Given the description of an element on the screen output the (x, y) to click on. 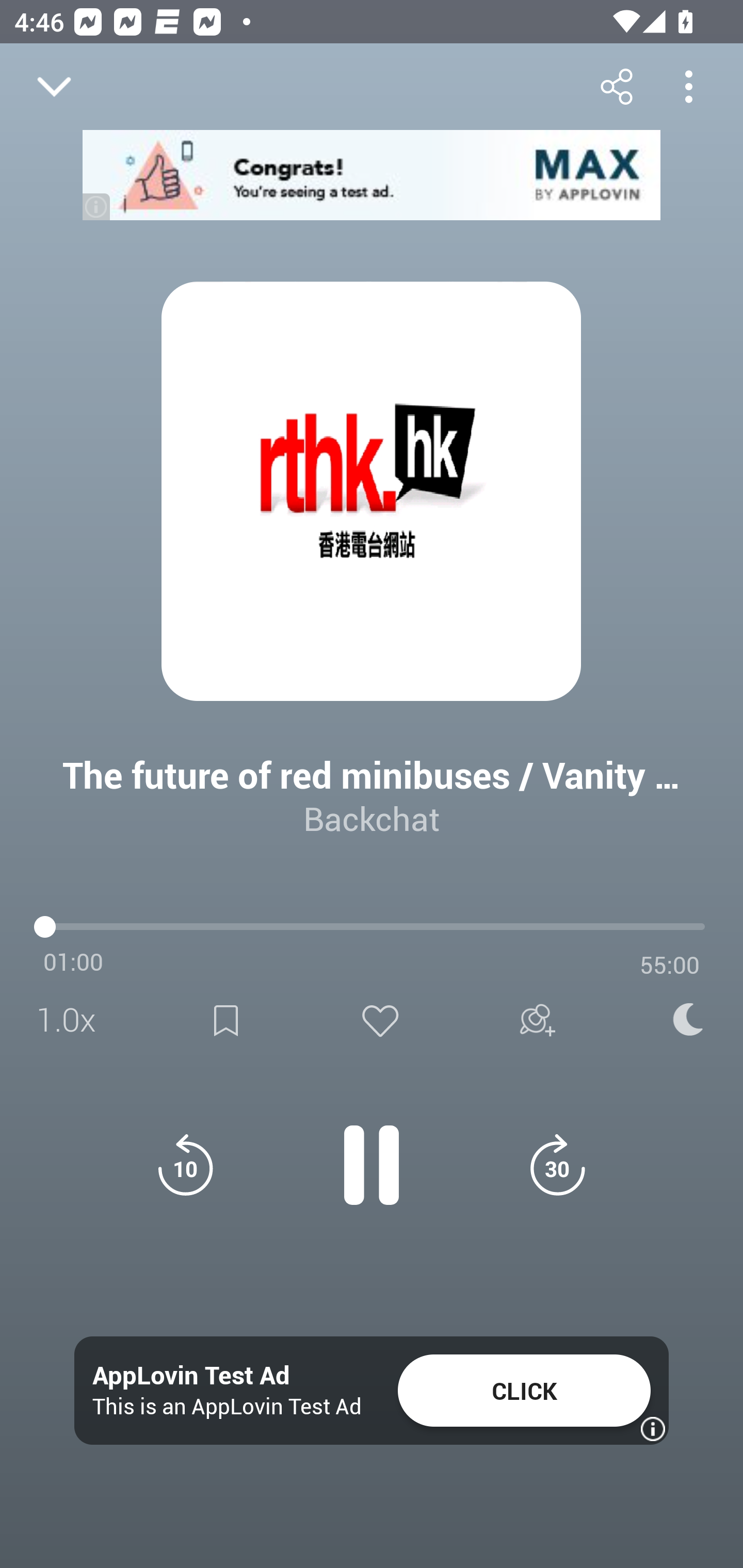
Close fullscreen player (54, 86)
Share (616, 86)
More options (688, 86)
app-monetization (371, 175)
(i) (96, 206)
Backchat (371, 818)
55:00 (669, 964)
1.0x Speed (72, 1020)
Like (380, 1020)
Pause button (371, 1153)
Jump back (185, 1164)
Jump forward (557, 1164)
CLICK (523, 1390)
AppLovin Test Ad (191, 1375)
This is an AppLovin Test Ad (226, 1406)
